Given the description of an element on the screen output the (x, y) to click on. 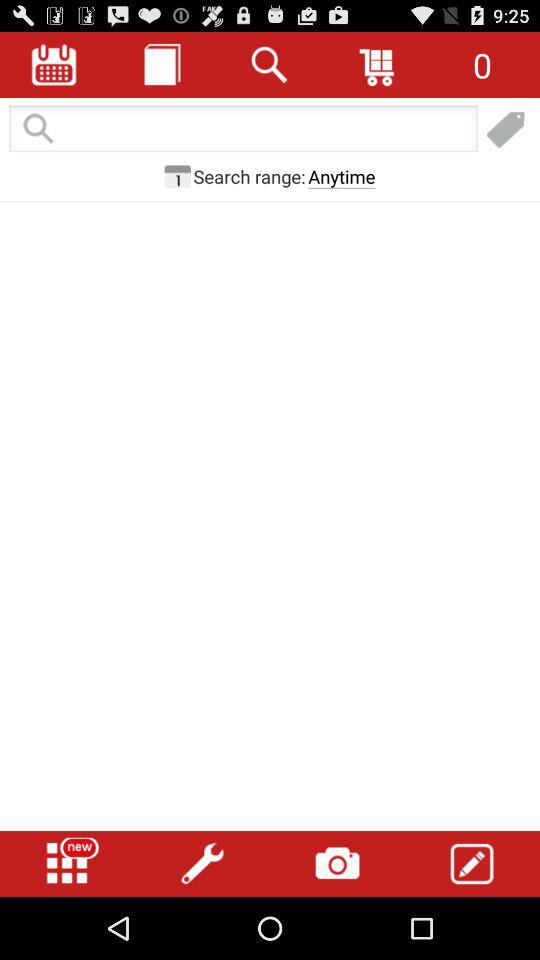
open the button next to the anytime button (249, 175)
